Given the description of an element on the screen output the (x, y) to click on. 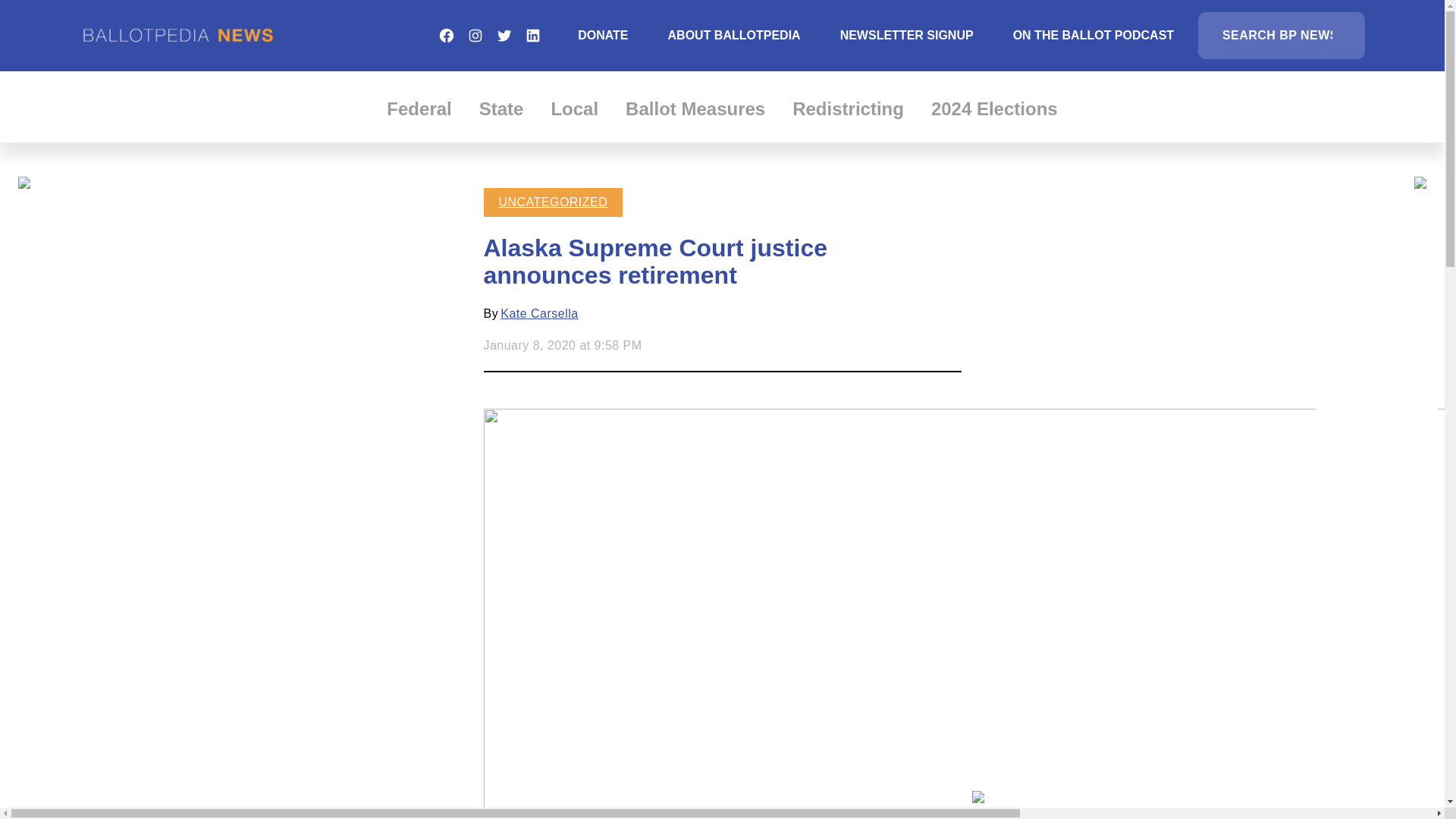
Local (574, 108)
DONATE (602, 35)
Ballot Measures (695, 108)
ABOUT BALLOTPEDIA (734, 35)
2024 Elections (994, 108)
Kate Carsella (539, 313)
LinkedIn (532, 35)
Facebook (446, 35)
Redistricting (848, 108)
UNCATEGORIZED (553, 201)
Twitter (504, 35)
State (501, 108)
Instagram (475, 35)
ON THE BALLOT PODCAST (1093, 35)
Federal (419, 108)
